Given the description of an element on the screen output the (x, y) to click on. 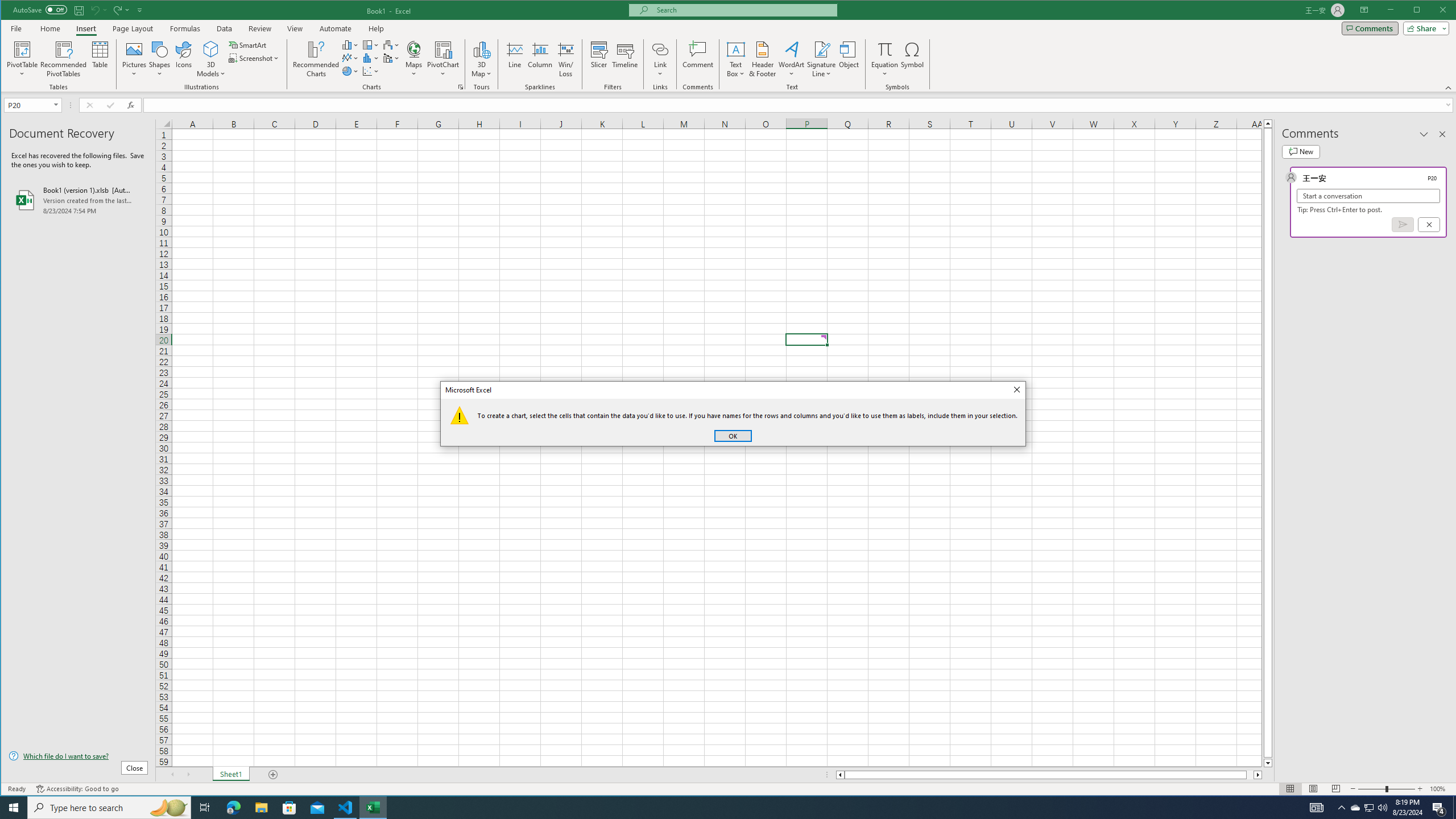
Link (659, 48)
File Explorer (261, 807)
Insert Line or Area Chart (350, 57)
SmartArt... (248, 44)
WordArt (791, 59)
Maximize (1432, 11)
Start (13, 807)
Microsoft Edge (233, 807)
OK (732, 435)
